Given the description of an element on the screen output the (x, y) to click on. 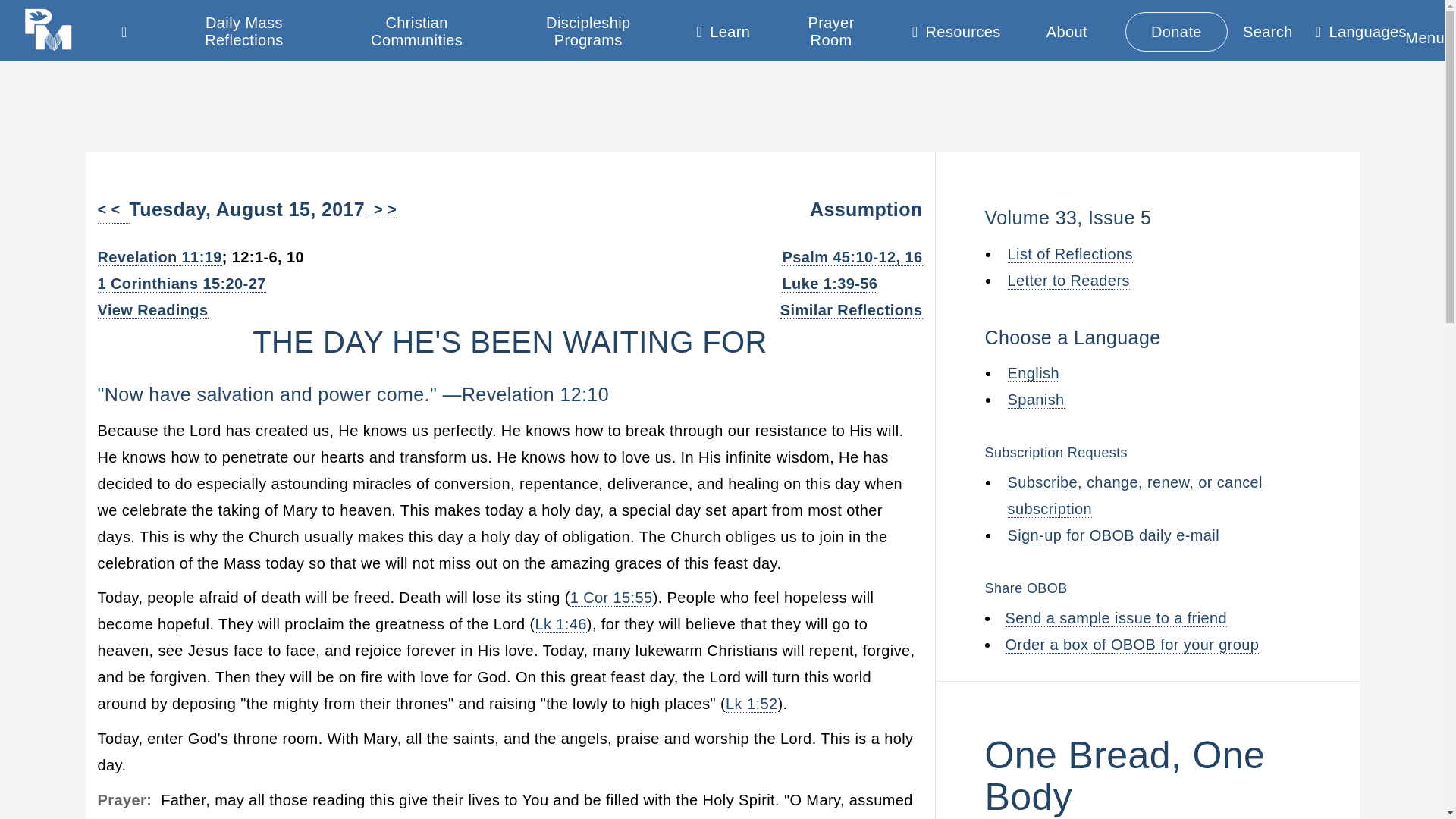
1 Corinthians 15:20-27 (180, 283)
About (1066, 31)
Lk 1:52 (751, 703)
Daily Mass Reflections (244, 31)
Similar Reflections (851, 310)
Christian Communities (416, 31)
Learn (723, 34)
Lk 1:46 (560, 624)
List of Reflections (1069, 253)
Letter to Readers (1068, 280)
